Given the description of an element on the screen output the (x, y) to click on. 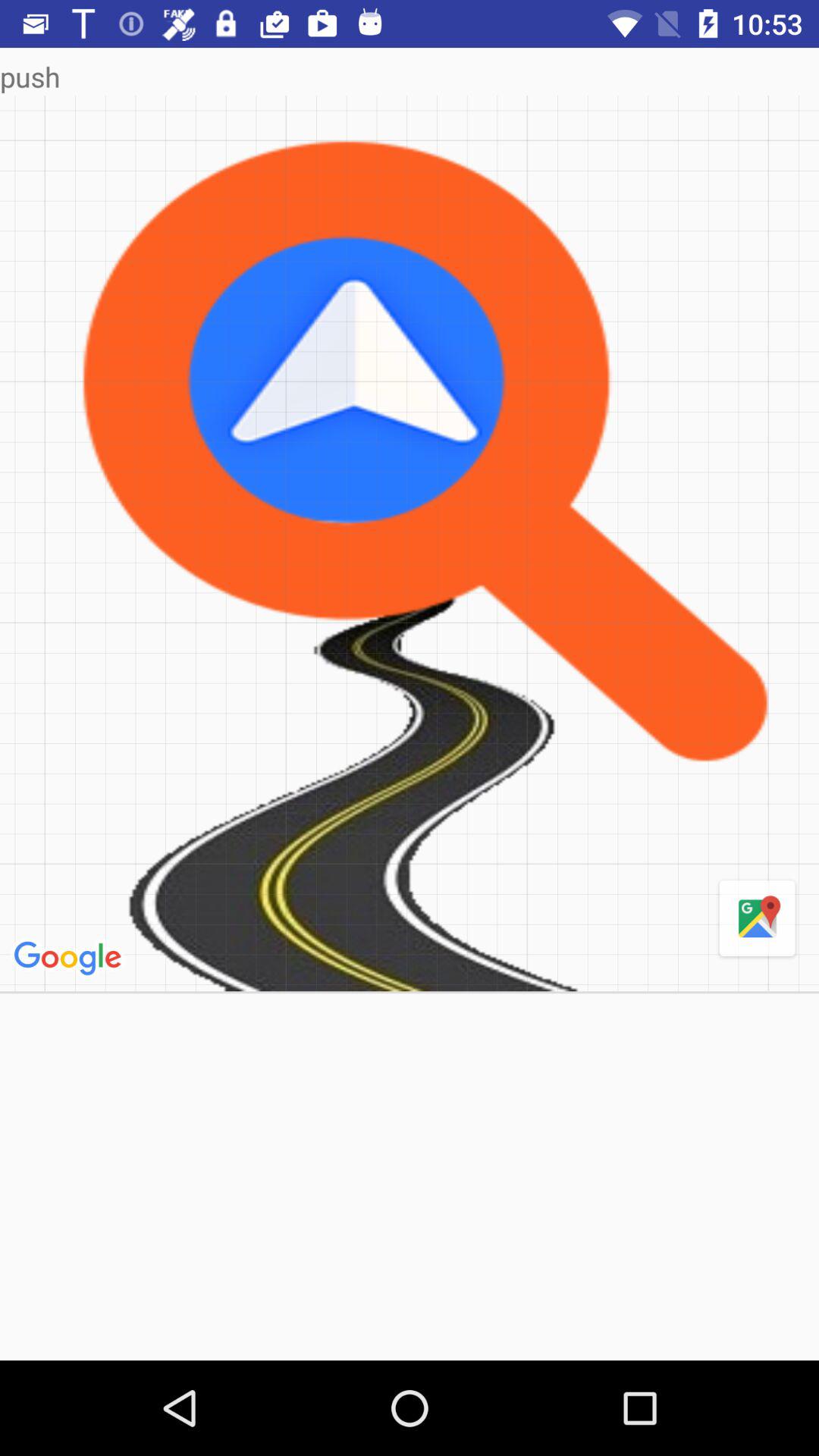
turn off icon on the right (757, 919)
